Given the description of an element on the screen output the (x, y) to click on. 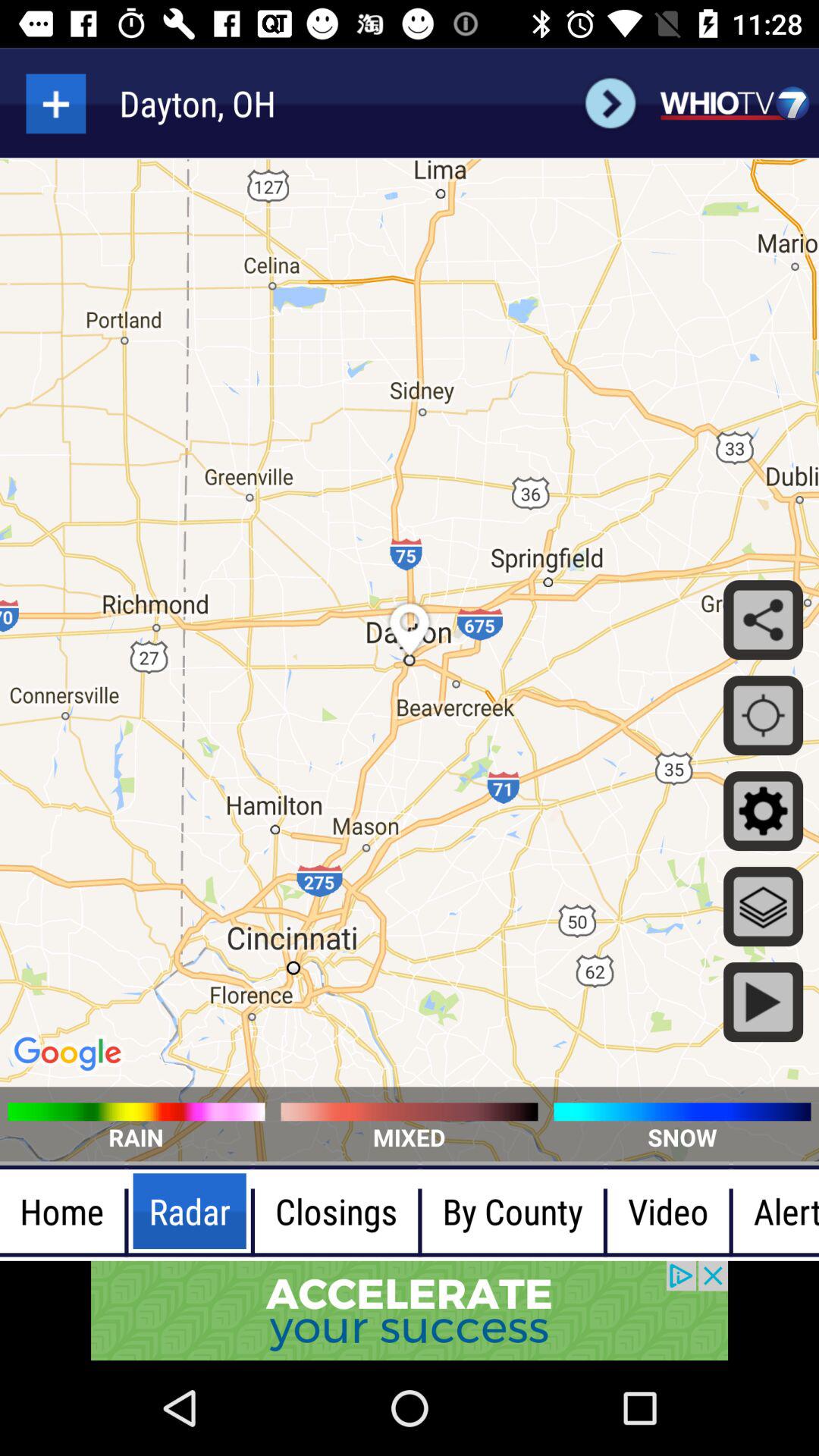
advertisement click option (409, 1310)
